Given the description of an element on the screen output the (x, y) to click on. 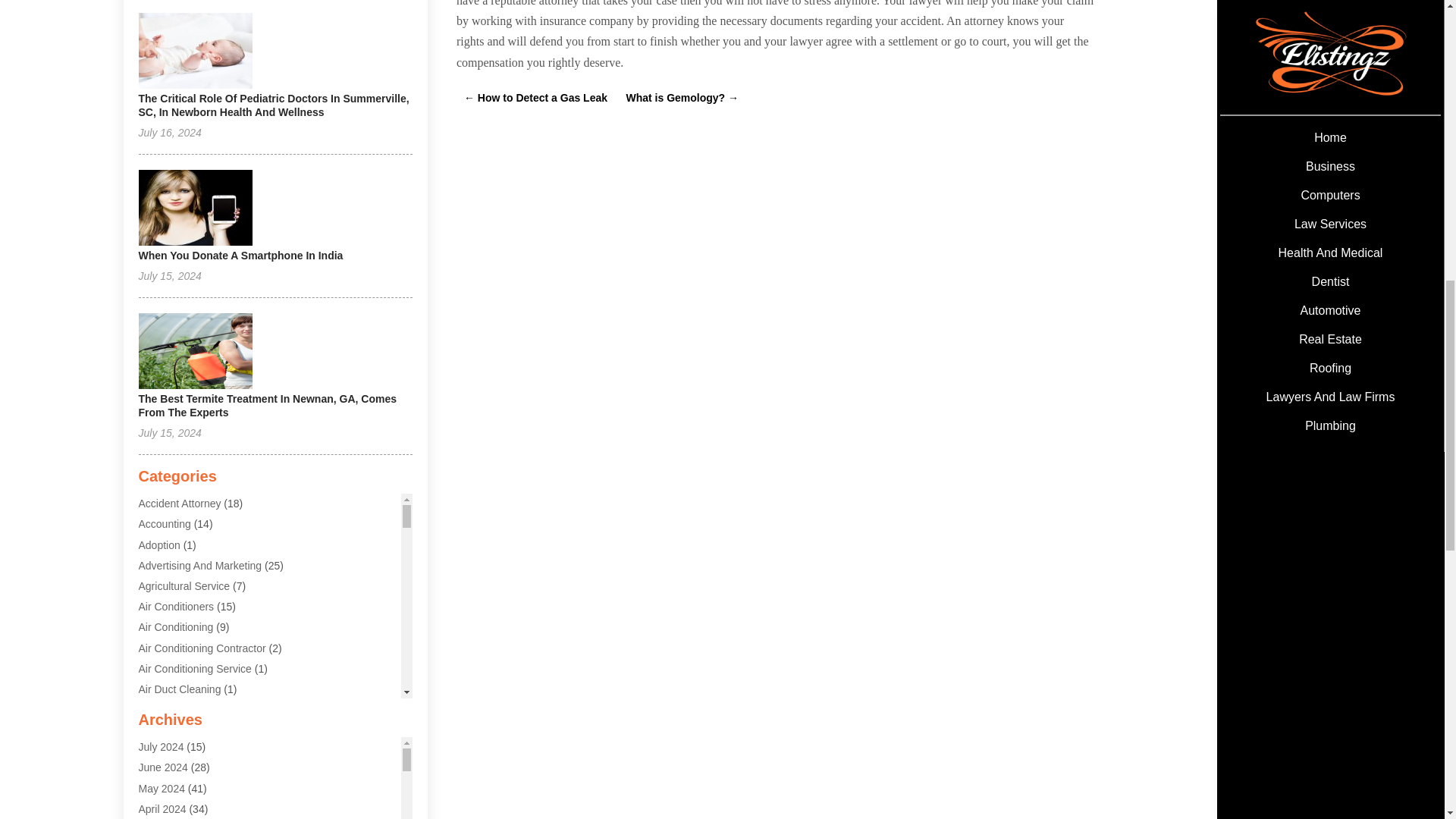
Adoption (158, 544)
Accident Attorney (179, 503)
Advertising And Marketing (200, 565)
Accounting (164, 523)
When You Donate A Smartphone In India (240, 255)
